Given the description of an element on the screen output the (x, y) to click on. 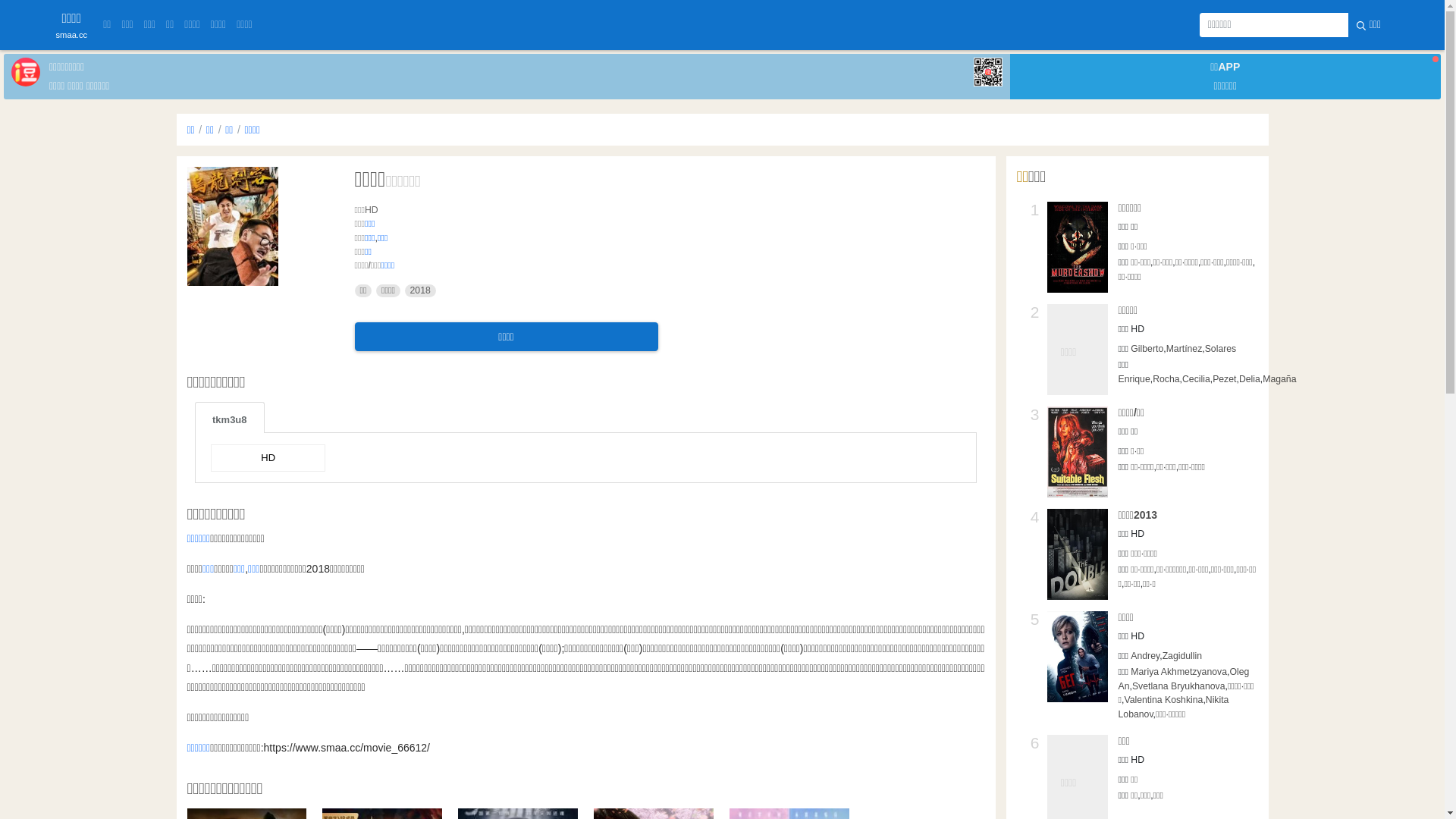
tkm3u8 Element type: text (229, 417)
Gilberto Element type: text (1146, 348)
Nikita Lobanov Element type: text (1172, 706)
Delia Element type: text (1249, 378)
Mariya Akhmetzyanova Element type: text (1178, 671)
HD Element type: text (267, 457)
Rocha Element type: text (1165, 378)
Pezet Element type: text (1224, 378)
Andrey Element type: text (1144, 655)
Oleg An Element type: text (1182, 678)
Valentina Koshkina Element type: text (1162, 699)
Zagidullin Element type: text (1181, 655)
Cecilia Element type: text (1196, 378)
2018 Element type: text (420, 290)
Svetlana Bryukhanova Element type: text (1178, 685)
Solares Element type: text (1220, 348)
Enrique Element type: text (1133, 378)
